Given the description of an element on the screen output the (x, y) to click on. 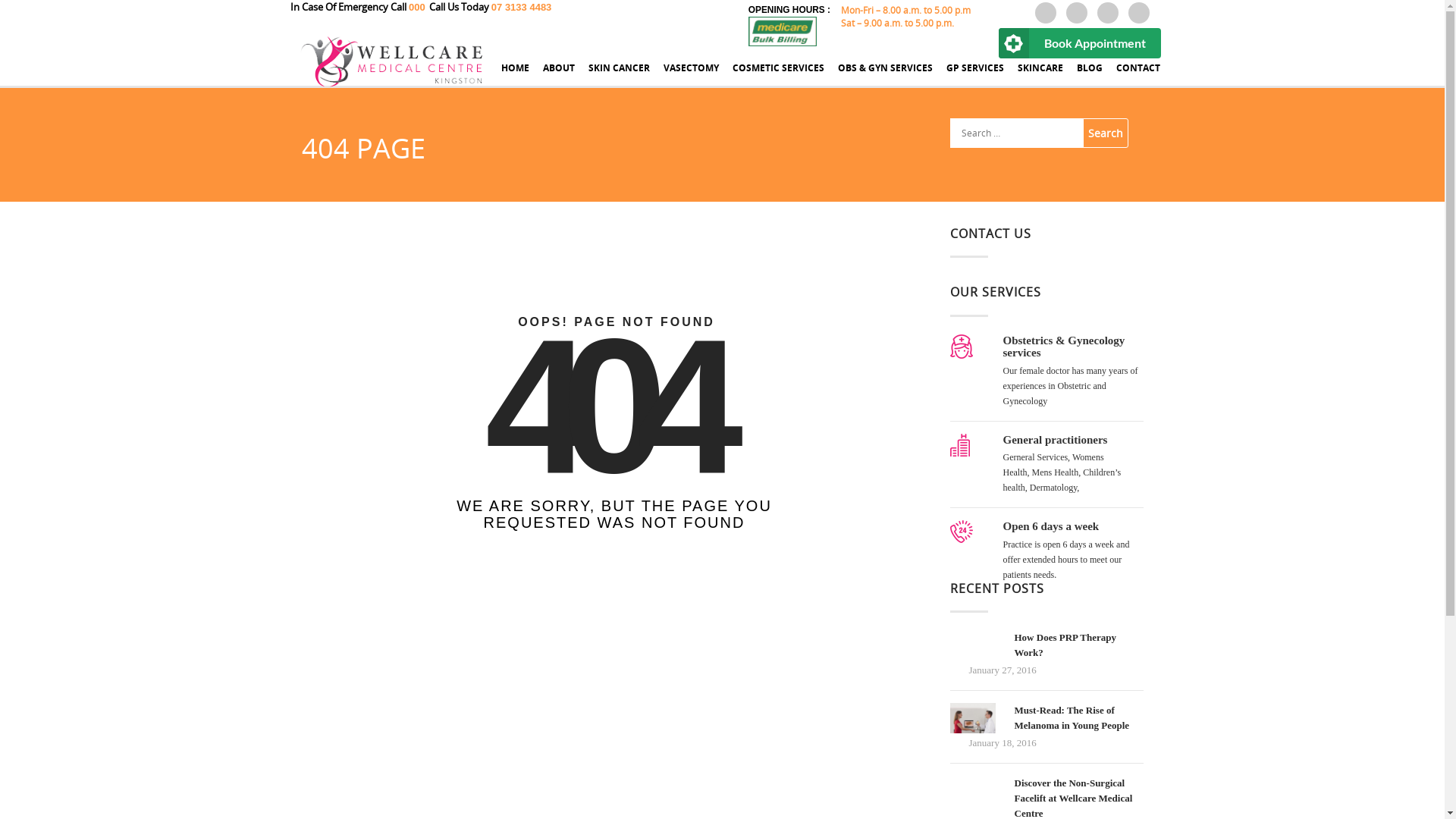
OBS & GYN SERVICES Element type: text (884, 74)
GP SERVICES Element type: text (975, 74)
COSMETIC SERVICES Element type: text (778, 74)
Book Appointment Element type: text (1078, 42)
SKINCARE Element type: text (1040, 74)
SKIN CANCER Element type: text (618, 74)
How Does PRP Therapy Work? Element type: text (1065, 644)
Search for: Element type: hover (1017, 132)
Search Element type: text (1105, 132)
HOME Element type: text (515, 74)
ABOUT Element type: text (558, 74)
VASECTOMY Element type: text (690, 74)
BLOG Element type: text (1089, 74)
CONTACT Element type: text (1138, 74)
Must-Read: The Rise of Melanoma in Young People Element type: text (1071, 717)
